Given the description of an element on the screen output the (x, y) to click on. 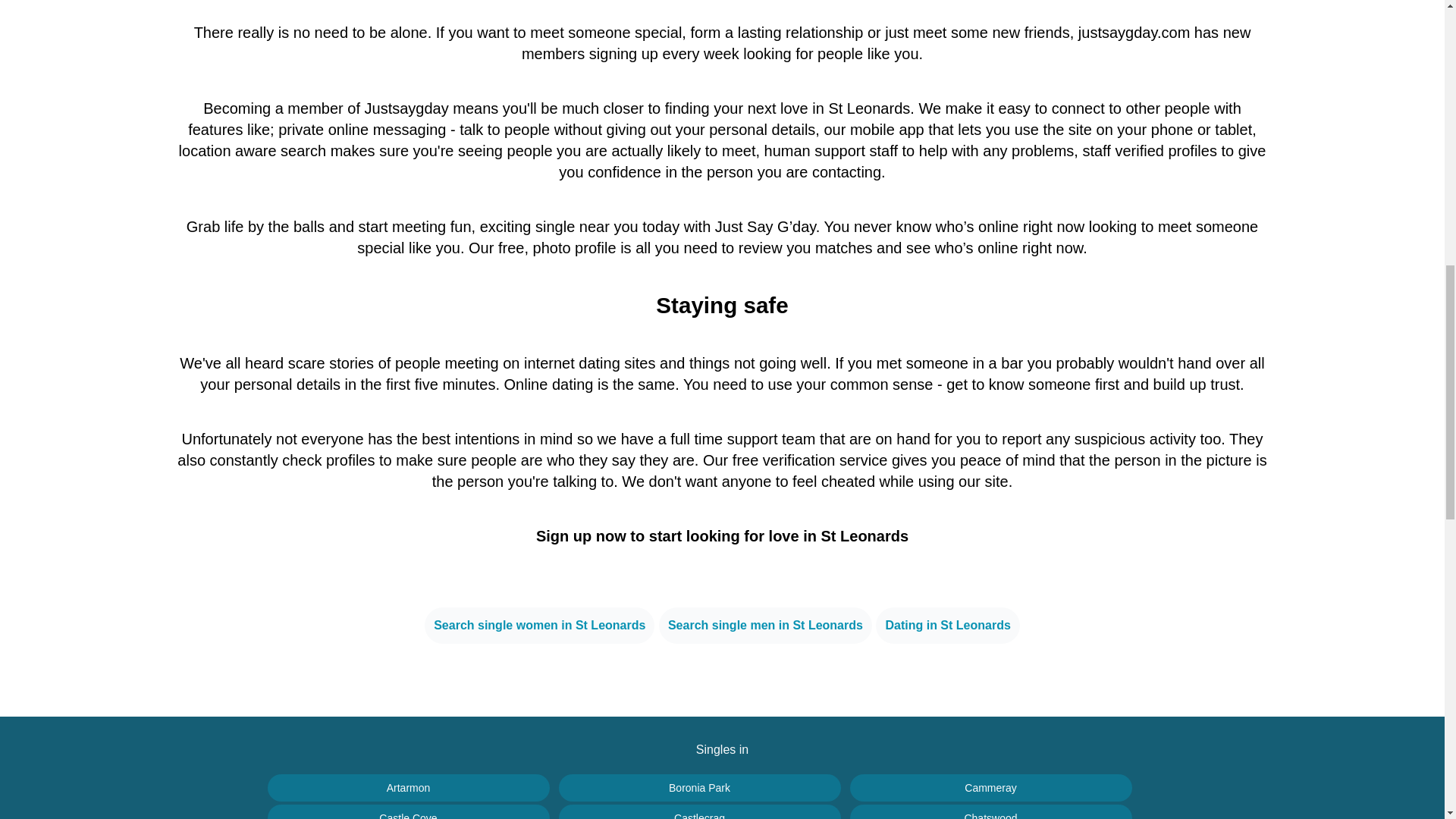
Castlecrag (698, 811)
Boronia Park (698, 787)
Singles in Chatswood (989, 811)
Singles in Castle Cove (407, 811)
Artarmon (407, 787)
Castle Cove (407, 811)
Singles in Boronia Park (698, 787)
Singles in Castlecrag (698, 811)
Cammeray (989, 787)
Search single women in St Leonards (539, 625)
Singles in Cammeray (989, 787)
Search single men in St Leonards (765, 625)
Chatswood (989, 811)
Singles in Artarmon (407, 787)
Dating in St Leonards (947, 625)
